Given the description of an element on the screen output the (x, y) to click on. 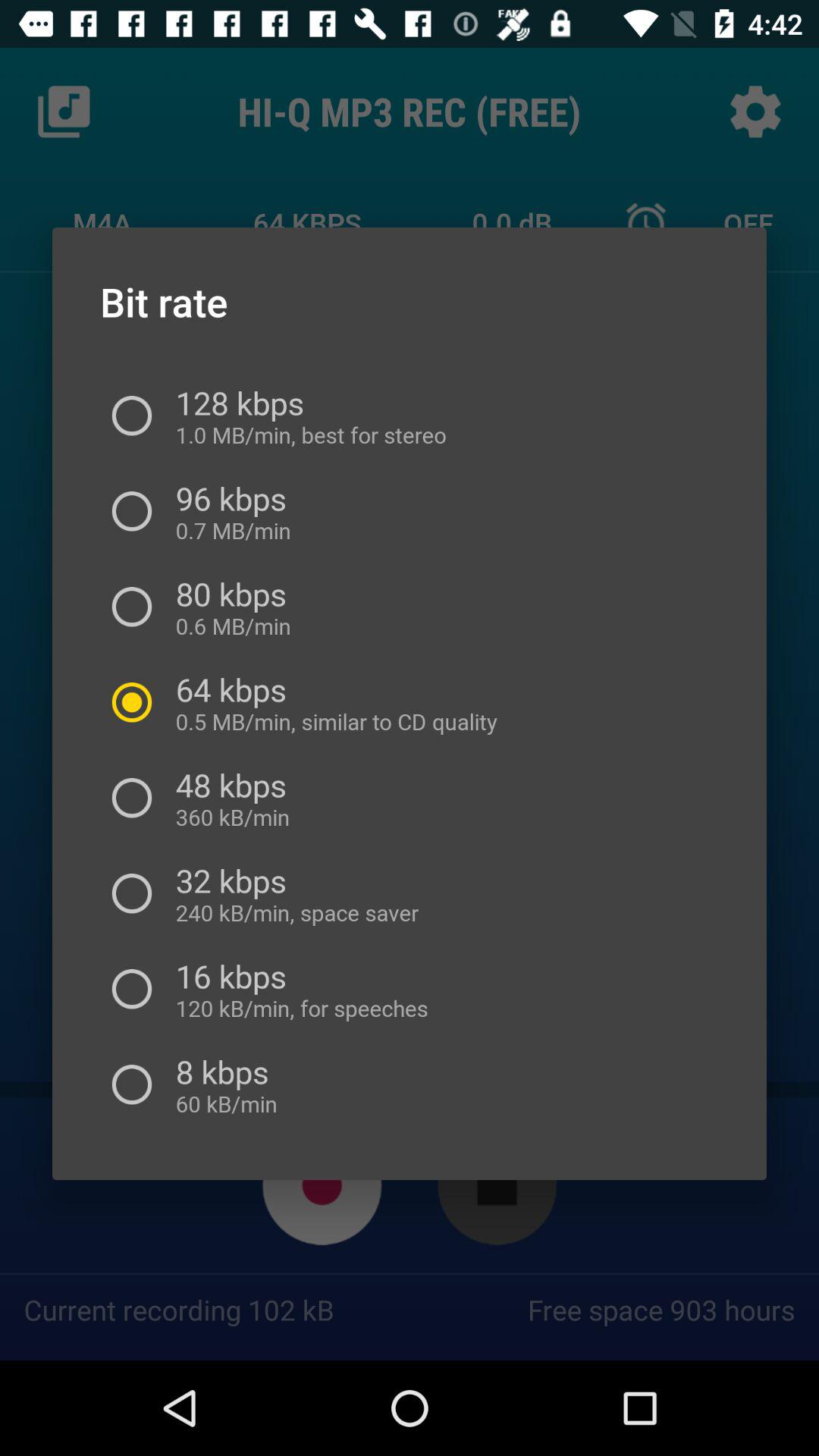
flip to the 48 kbps 360 icon (229, 797)
